Given the description of an element on the screen output the (x, y) to click on. 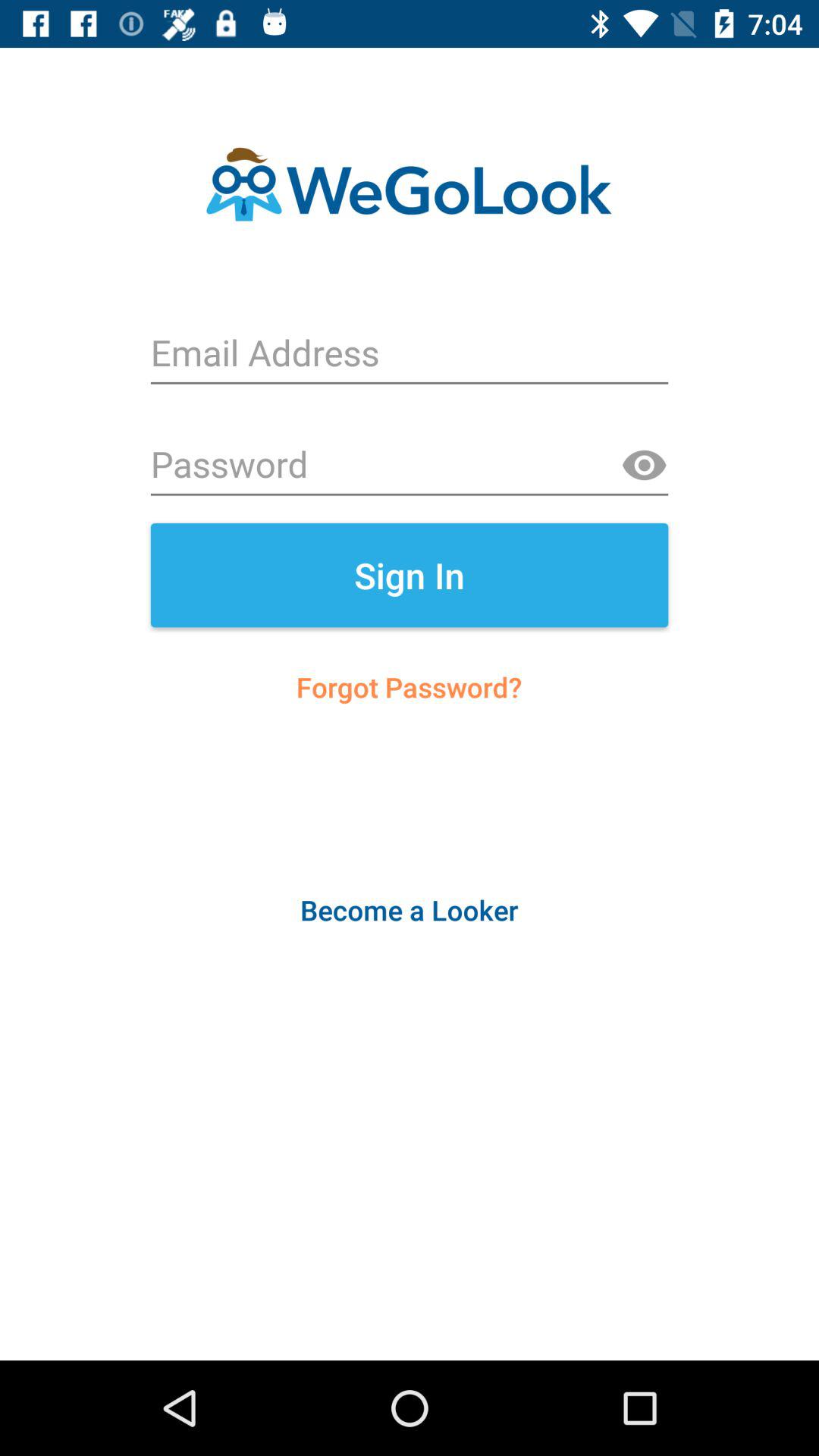
login form (409, 354)
